Given the description of an element on the screen output the (x, y) to click on. 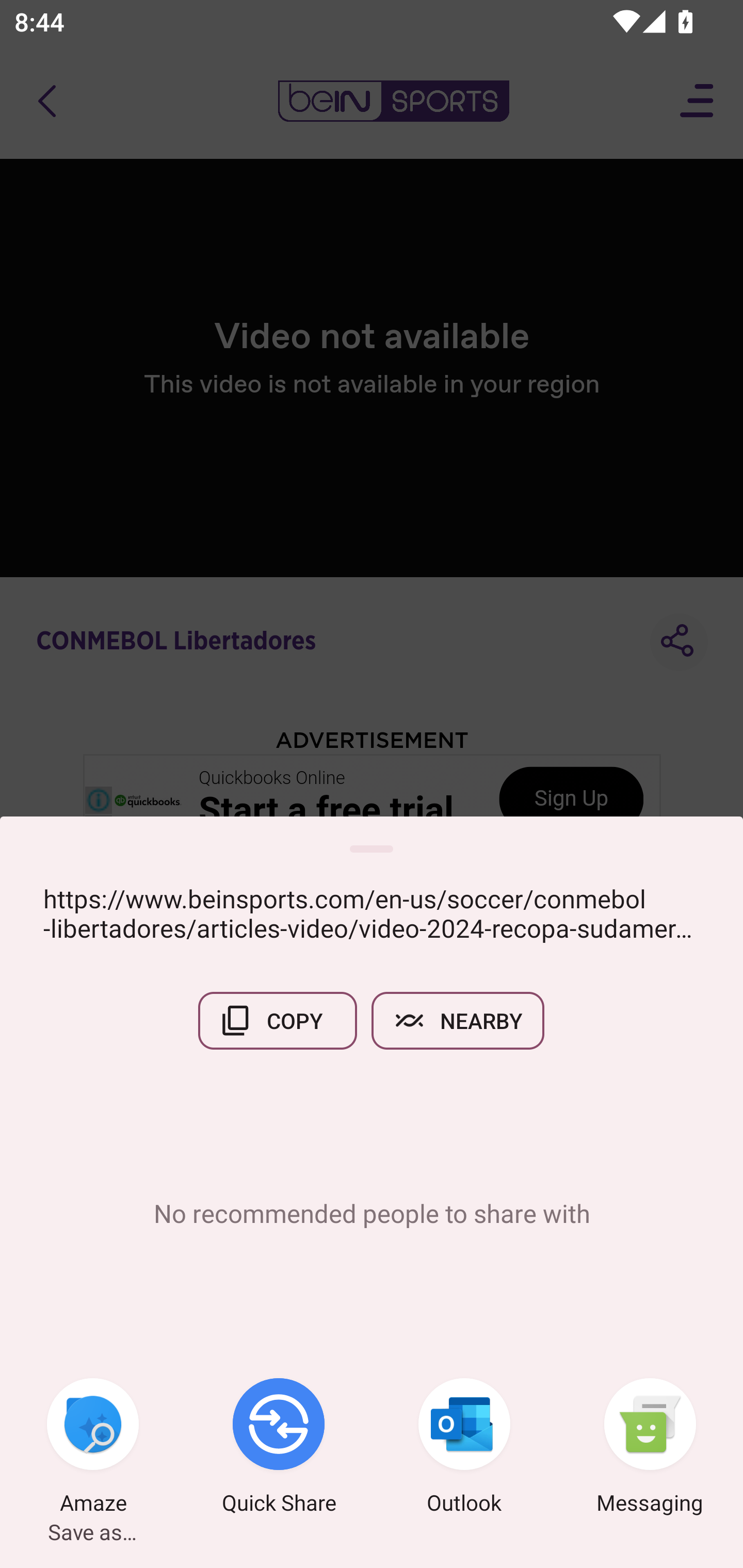
COPY (277, 1020)
NEARBY (457, 1020)
Amaze Save as… (92, 1448)
Quick Share (278, 1448)
Outlook (464, 1448)
Messaging (650, 1448)
